Given the description of an element on the screen output the (x, y) to click on. 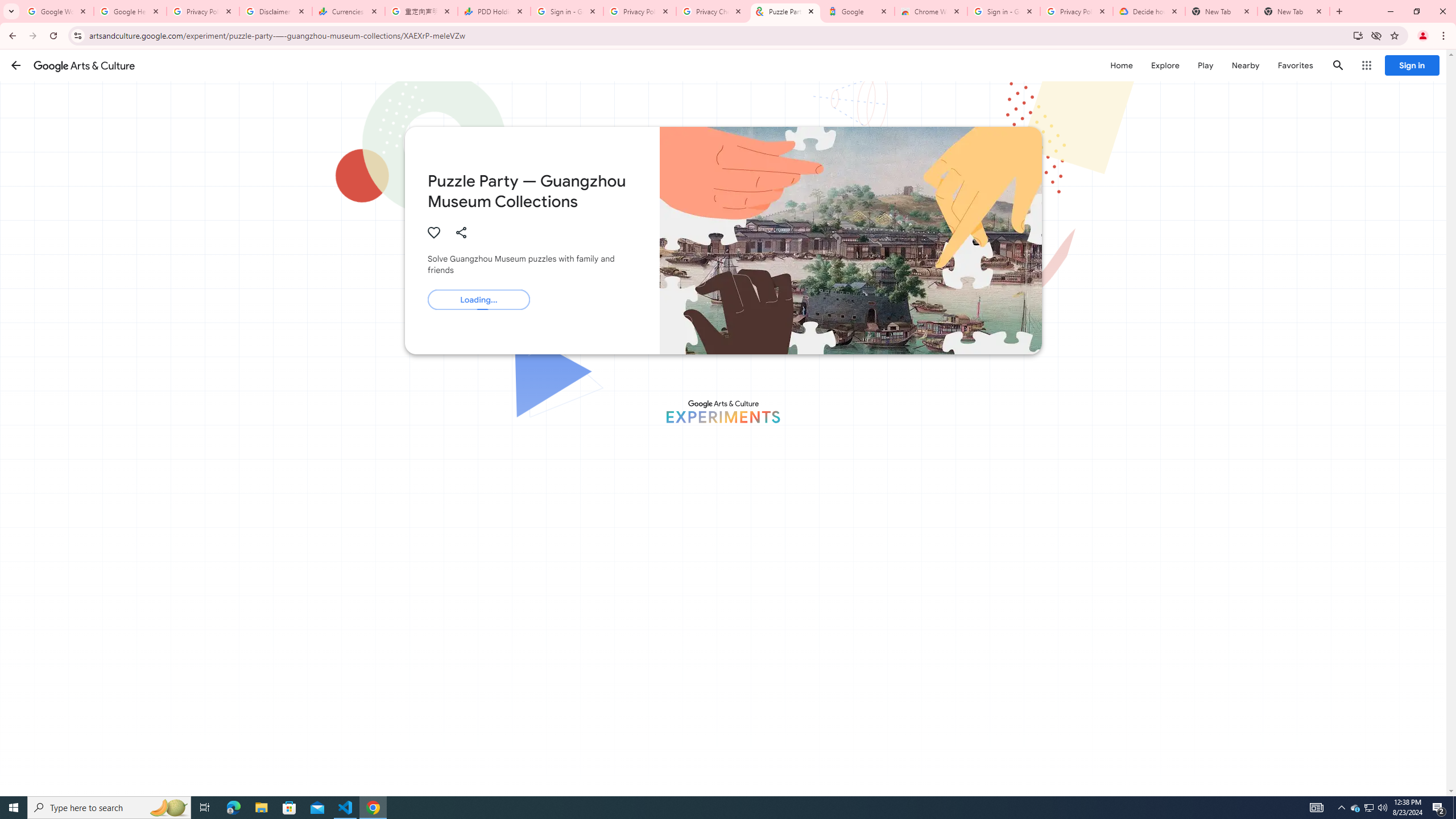
Install Google Arts & Culture (1358, 35)
Explore (1164, 65)
New Tab (1293, 11)
